Given the description of an element on the screen output the (x, y) to click on. 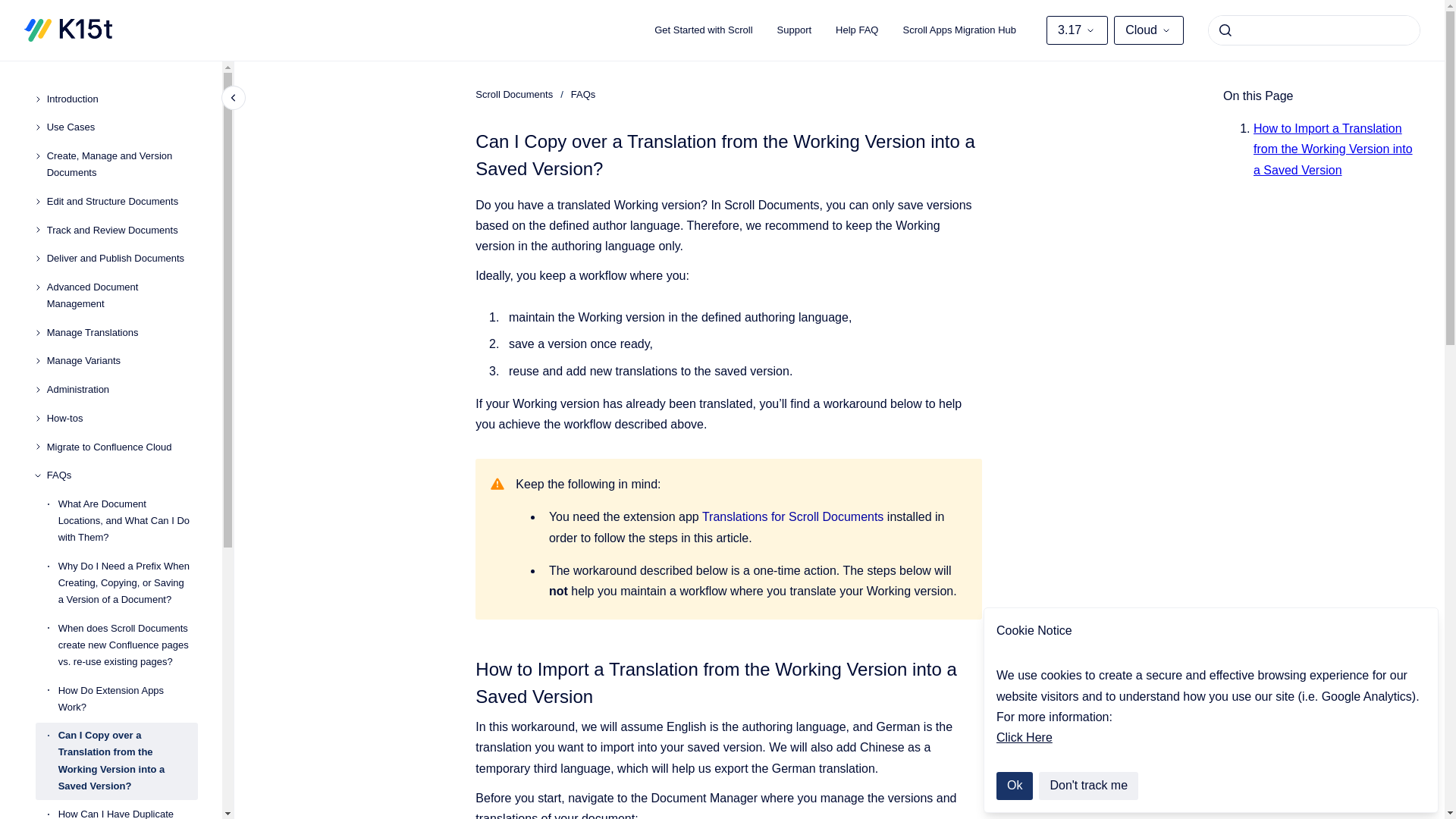
3.17 (1077, 30)
Ok (1013, 786)
Deliver and Publish Documents (122, 258)
Support (794, 29)
Help FAQ (856, 29)
Cloud (1148, 30)
How-tos (122, 418)
Advanced Document Management (122, 295)
Click Here (1023, 737)
FAQs (122, 474)
Track and Review Documents (122, 230)
Administration (122, 389)
Manage Translations (122, 332)
Use Cases (122, 127)
Go to homepage (68, 29)
